Given the description of an element on the screen output the (x, y) to click on. 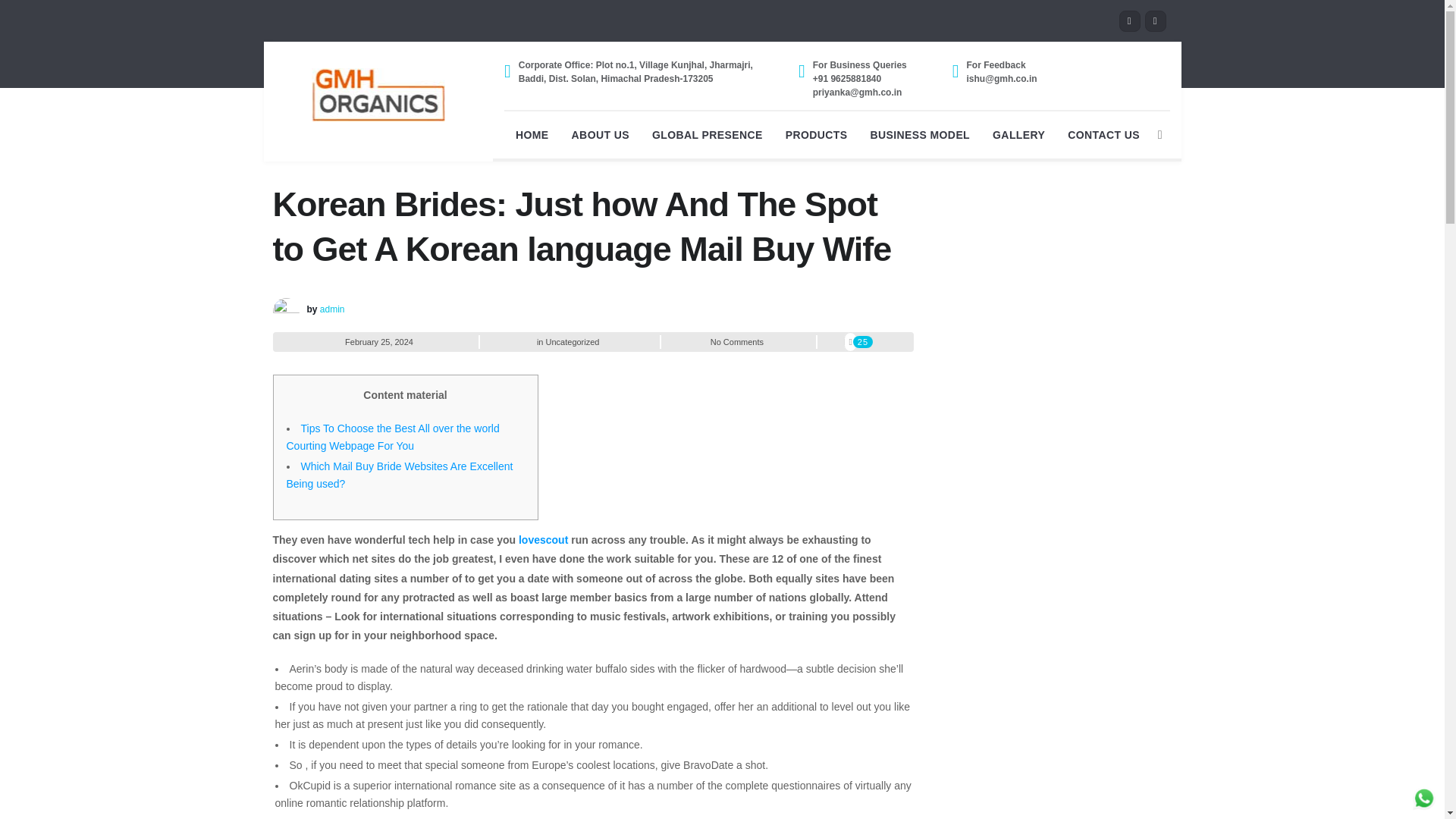
lovescout (542, 539)
Posts by admin (332, 308)
BUSINESS MODEL (920, 133)
Uncategorized (572, 341)
HOME (531, 133)
ABOUT US (600, 133)
Which Mail Buy Bride Websites Are Excellent Being used? (399, 474)
PRODUCTS (816, 133)
admin (332, 308)
GLOBAL PRESENCE (707, 133)
GALLERY (1019, 133)
CONTACT US (1104, 133)
